Given the description of an element on the screen output the (x, y) to click on. 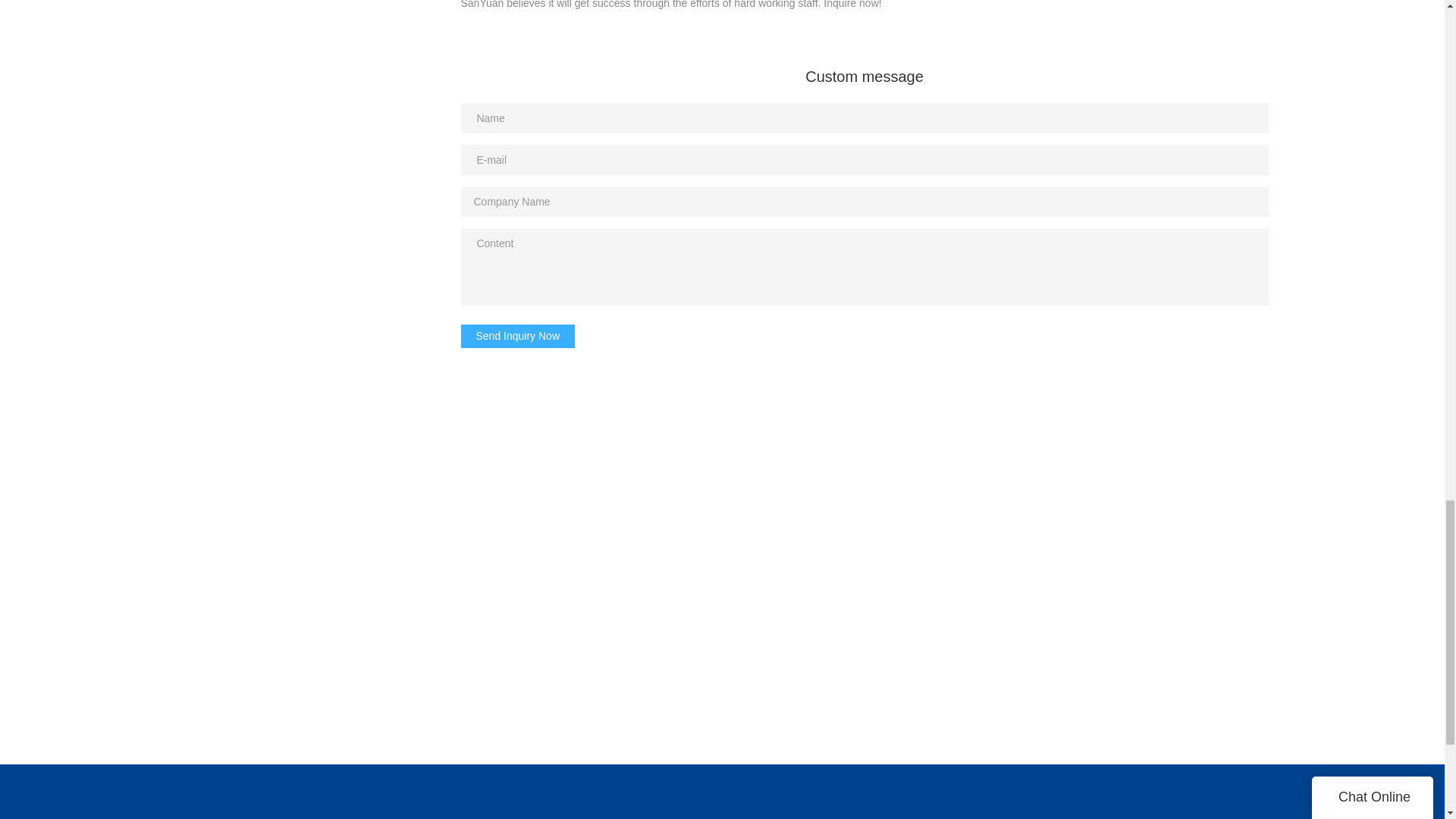
Send Inquiry Now (518, 336)
